Given the description of an element on the screen output the (x, y) to click on. 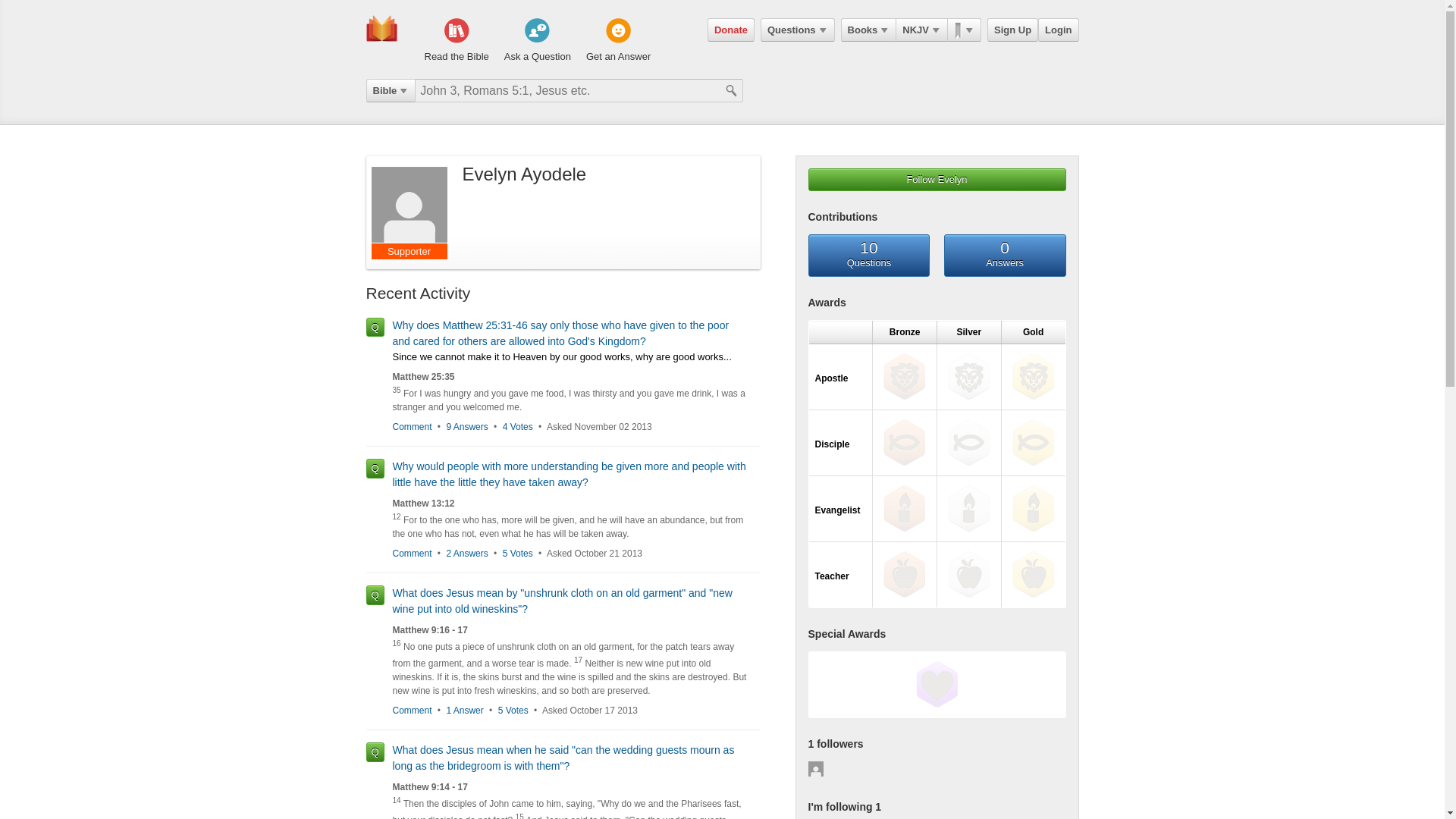
Questions (797, 29)
Read the Bible (457, 41)
Get an Answer (618, 41)
Ask a Question (536, 41)
Books (868, 29)
Donate (730, 29)
